Given the description of an element on the screen output the (x, y) to click on. 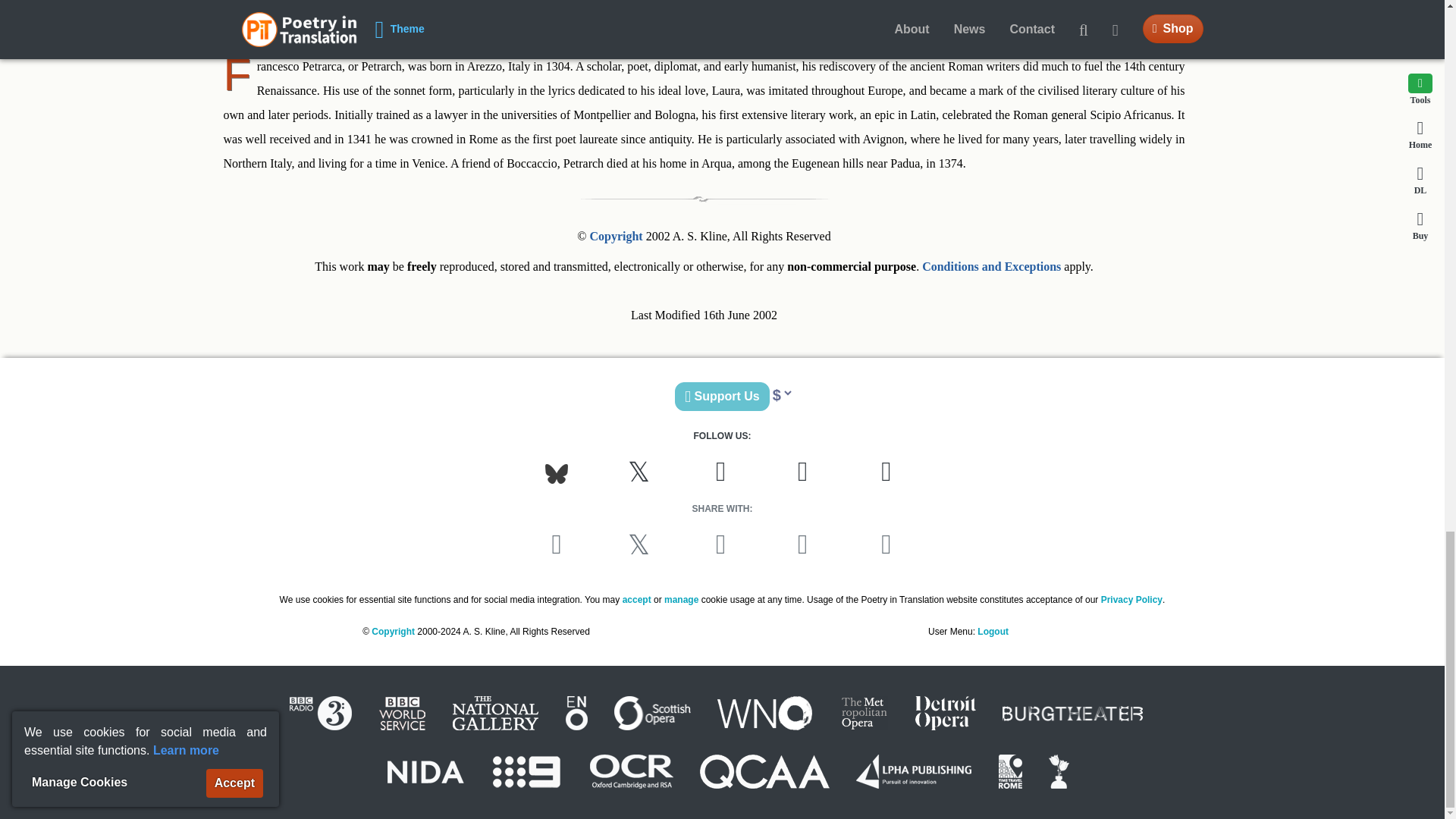
Copyright (615, 236)
Support Us (721, 396)
Conditions and Exceptions (991, 266)
